Given the description of an element on the screen output the (x, y) to click on. 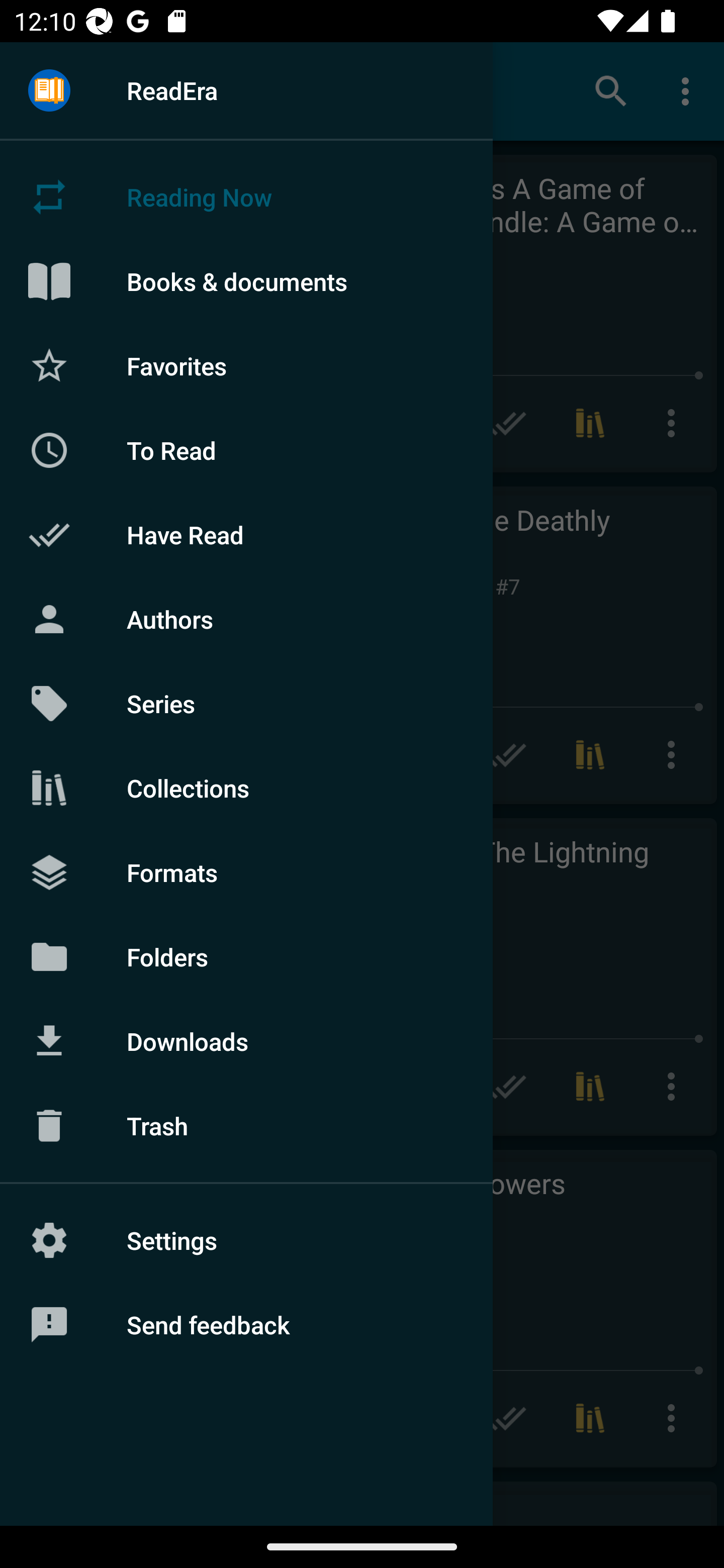
Menu (49, 91)
ReadEra (246, 89)
Search books & documents (611, 90)
More options (688, 90)
Reading Now (246, 197)
Books & documents (246, 281)
Favorites (246, 365)
To Read (246, 449)
Have Read (246, 534)
Authors (246, 619)
Series (246, 703)
Collections (246, 787)
Formats (246, 871)
Folders (246, 956)
Downloads (246, 1040)
Trash (246, 1125)
Settings (246, 1239)
Send feedback (246, 1324)
